Given the description of an element on the screen output the (x, y) to click on. 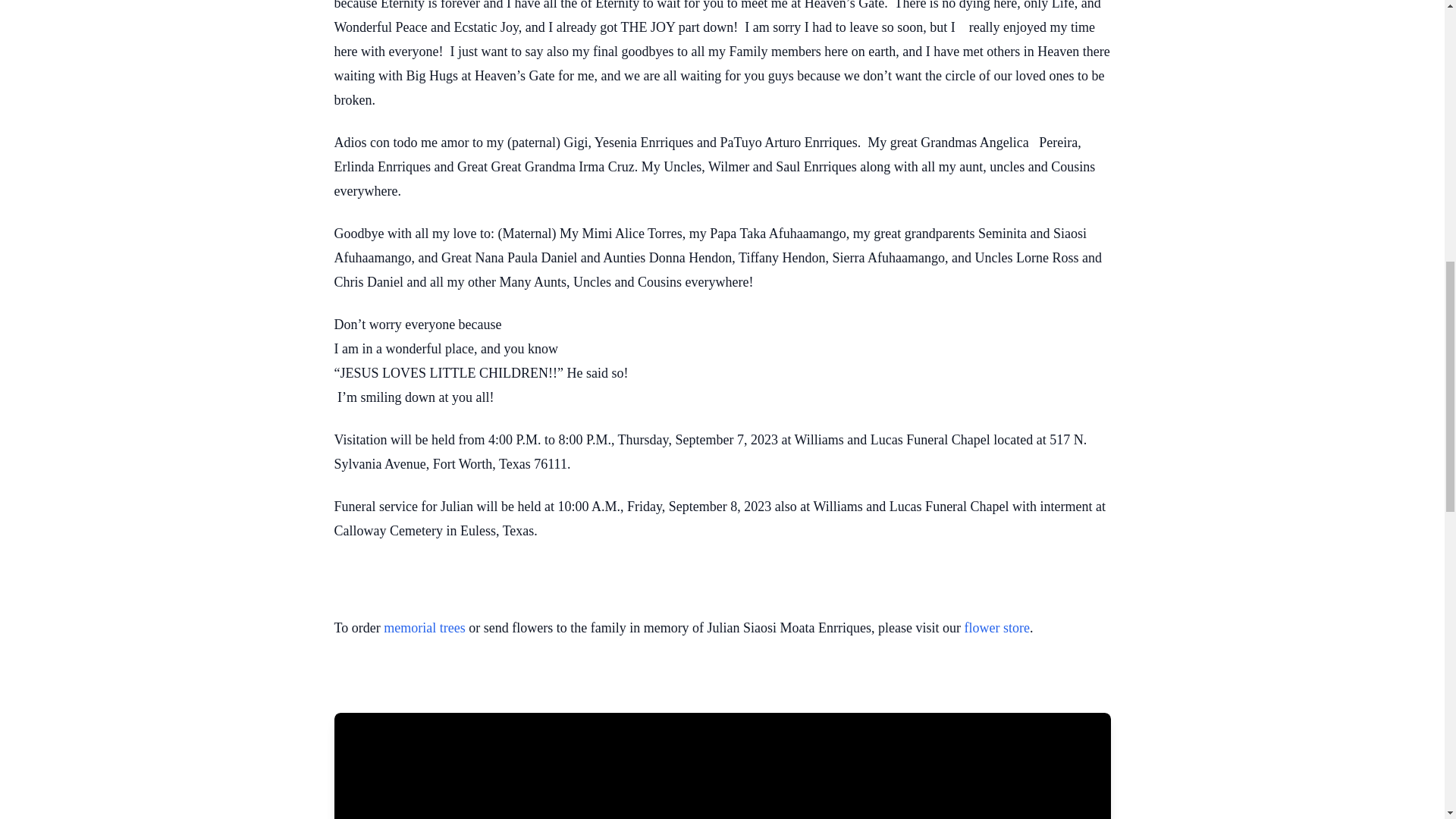
flower store (996, 627)
memorial trees (424, 627)
